Given the description of an element on the screen output the (x, y) to click on. 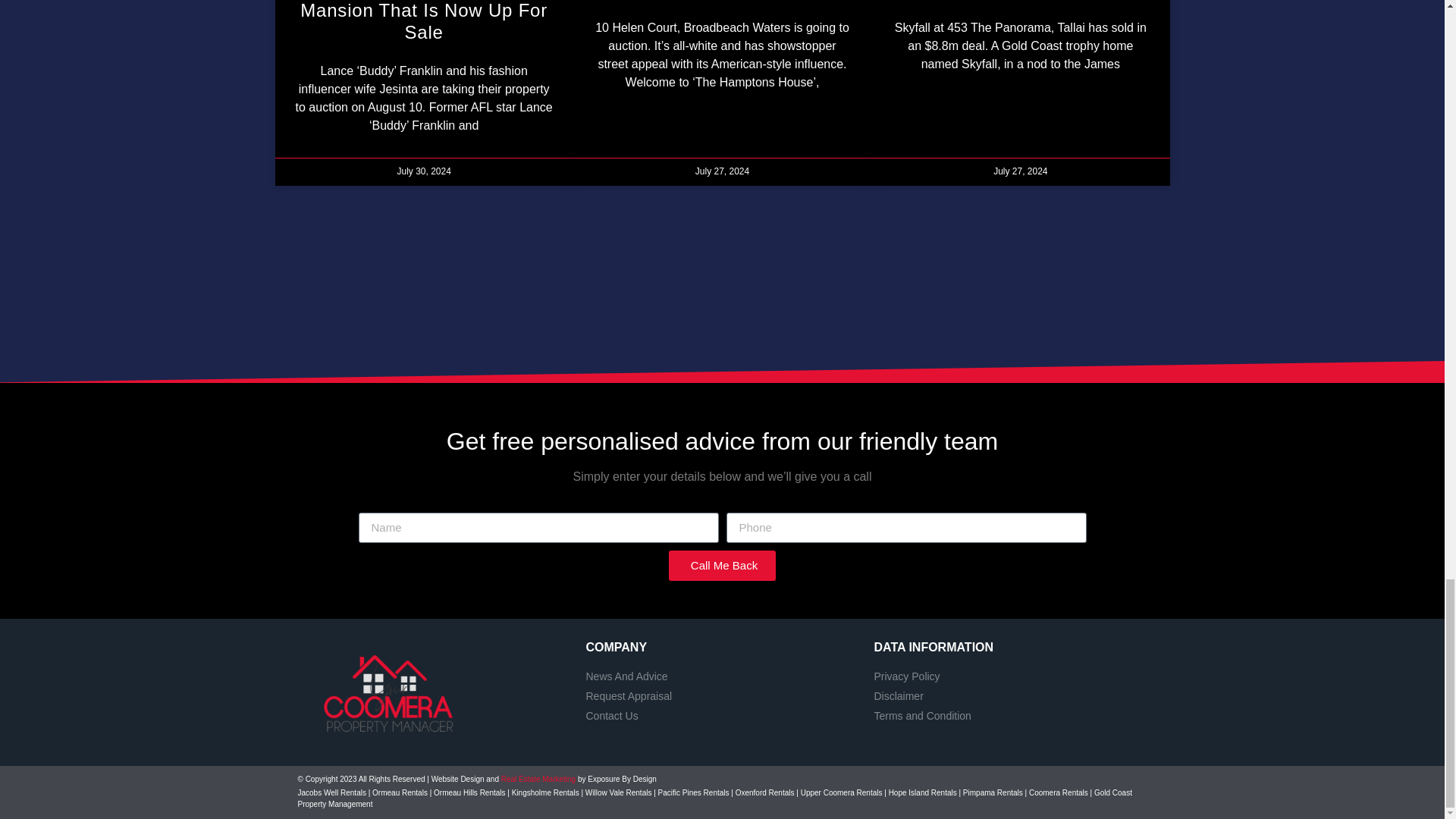
Disclaimer (1010, 696)
Contact Us (722, 715)
Real Estate Marketing (537, 778)
Privacy Policy (1010, 676)
Call Me Back (722, 565)
News And Advice (722, 676)
Jacobs Well Rentals (331, 792)
Ormeau Hills Rentals (469, 792)
Request Appraisal (722, 696)
Terms and Condition (1010, 715)
Ormeau Rentals (398, 792)
